Given the description of an element on the screen output the (x, y) to click on. 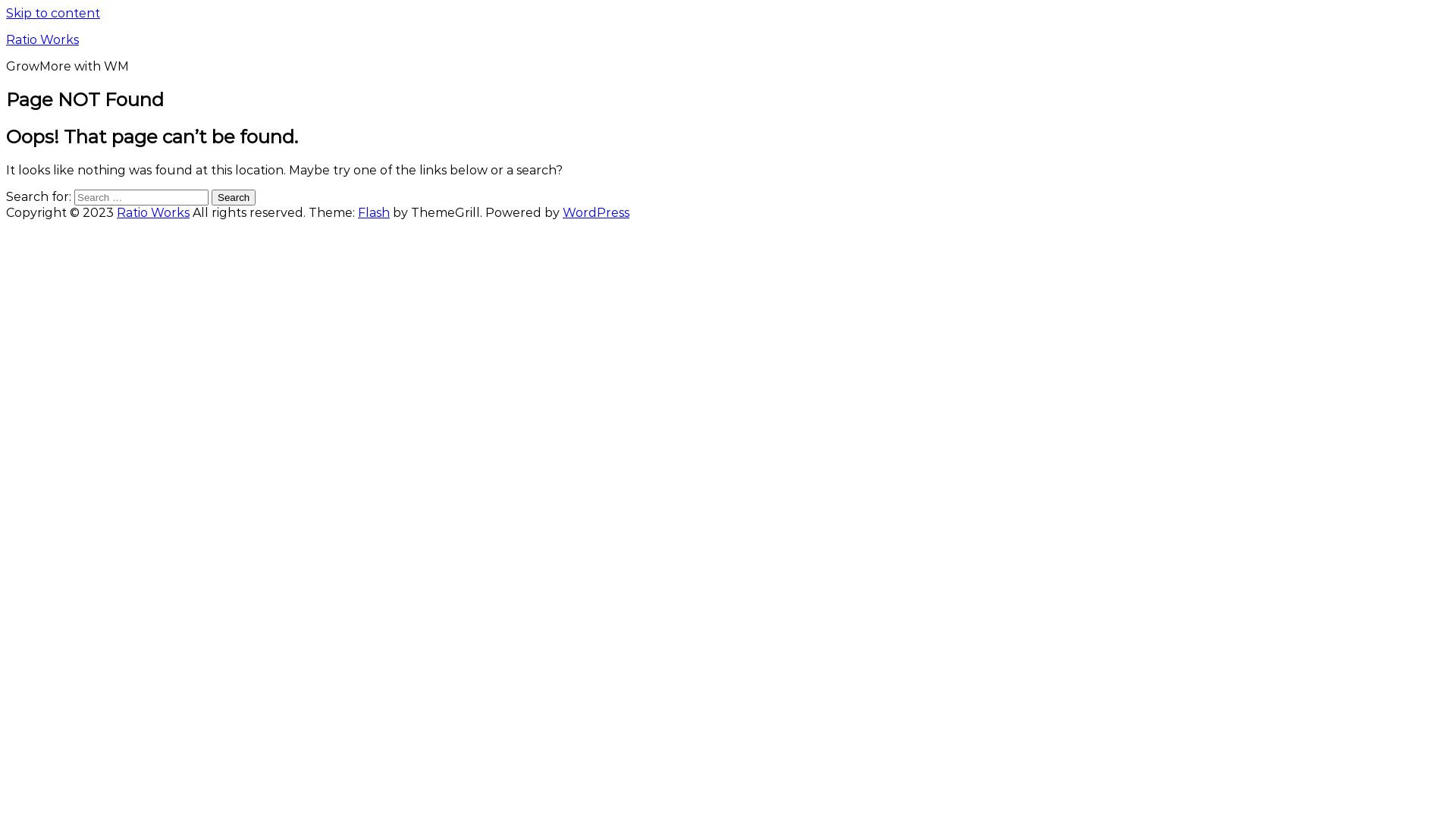
Search Element type: text (233, 197)
Skip to content Element type: text (53, 13)
Ratio Works Element type: text (152, 212)
WordPress Element type: text (595, 212)
Ratio Works Element type: text (42, 39)
Flash Element type: text (373, 212)
